Given the description of an element on the screen output the (x, y) to click on. 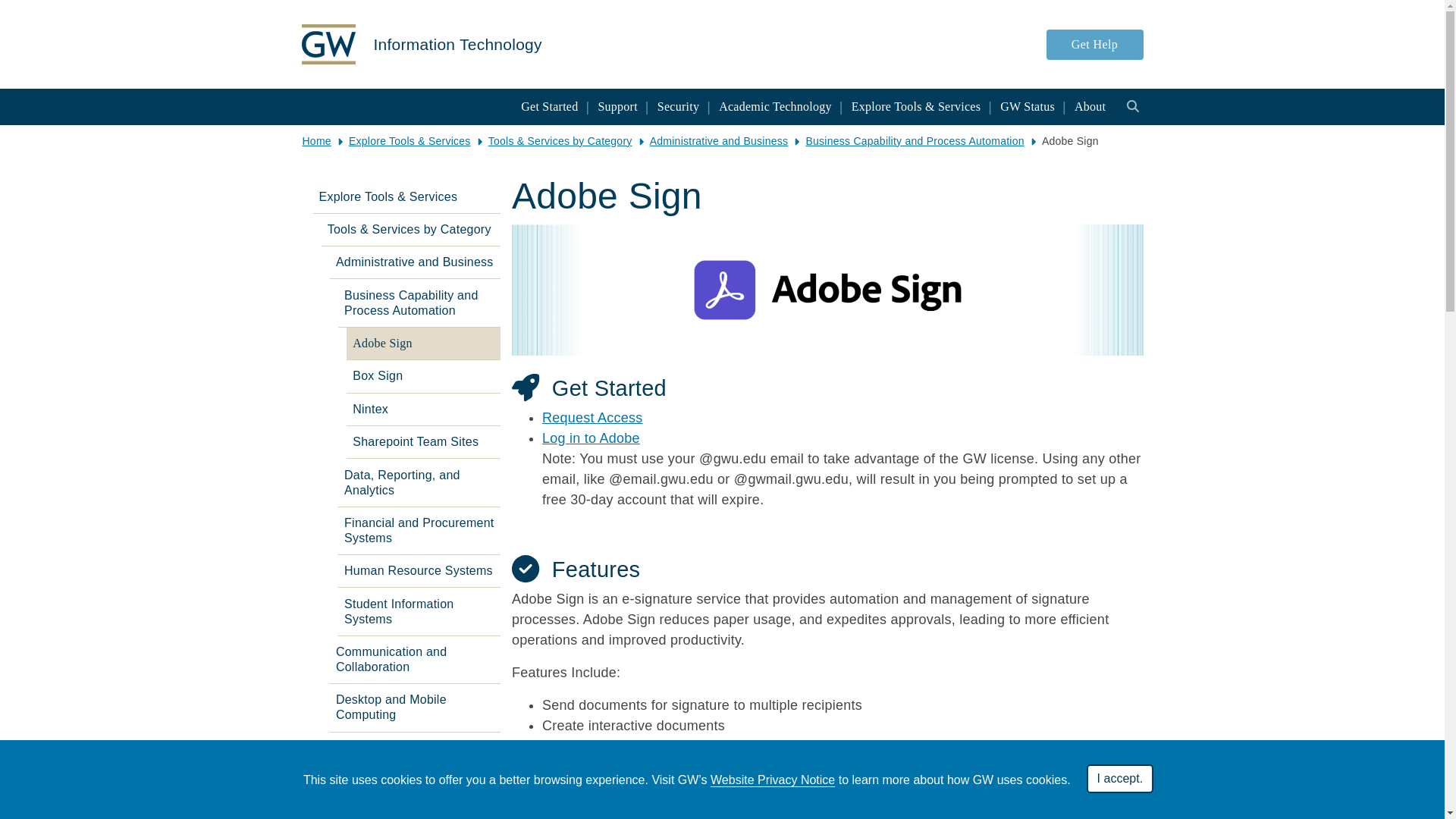
Get Help (1094, 43)
Security (677, 106)
Information Technology (456, 44)
About (1090, 106)
Academic Technology (775, 106)
Get Started (549, 106)
Search (1132, 105)
Get Help (1094, 43)
Support (617, 106)
GW Status (1027, 106)
